Given the description of an element on the screen output the (x, y) to click on. 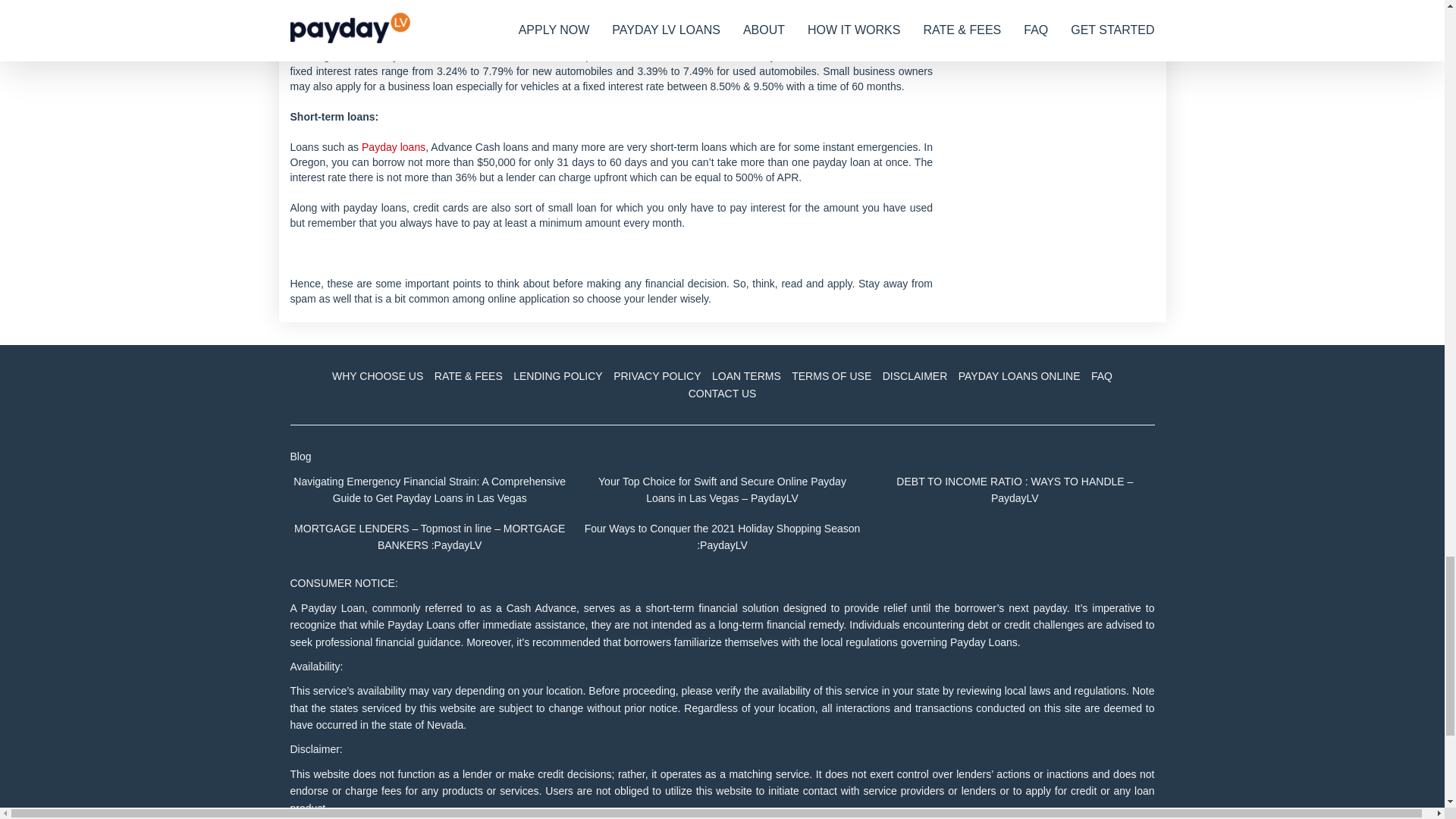
PAYDAY LOANS ONLINE (1019, 376)
FAQ (1101, 376)
LENDING POLICY (557, 376)
Payday loans (393, 146)
DISCLAIMER (915, 376)
WHY CHOOSE US (377, 376)
CONTACT US (722, 393)
TERMS OF USE (831, 376)
LOAN TERMS (745, 376)
PRIVACY POLICY (657, 376)
